Given the description of an element on the screen output the (x, y) to click on. 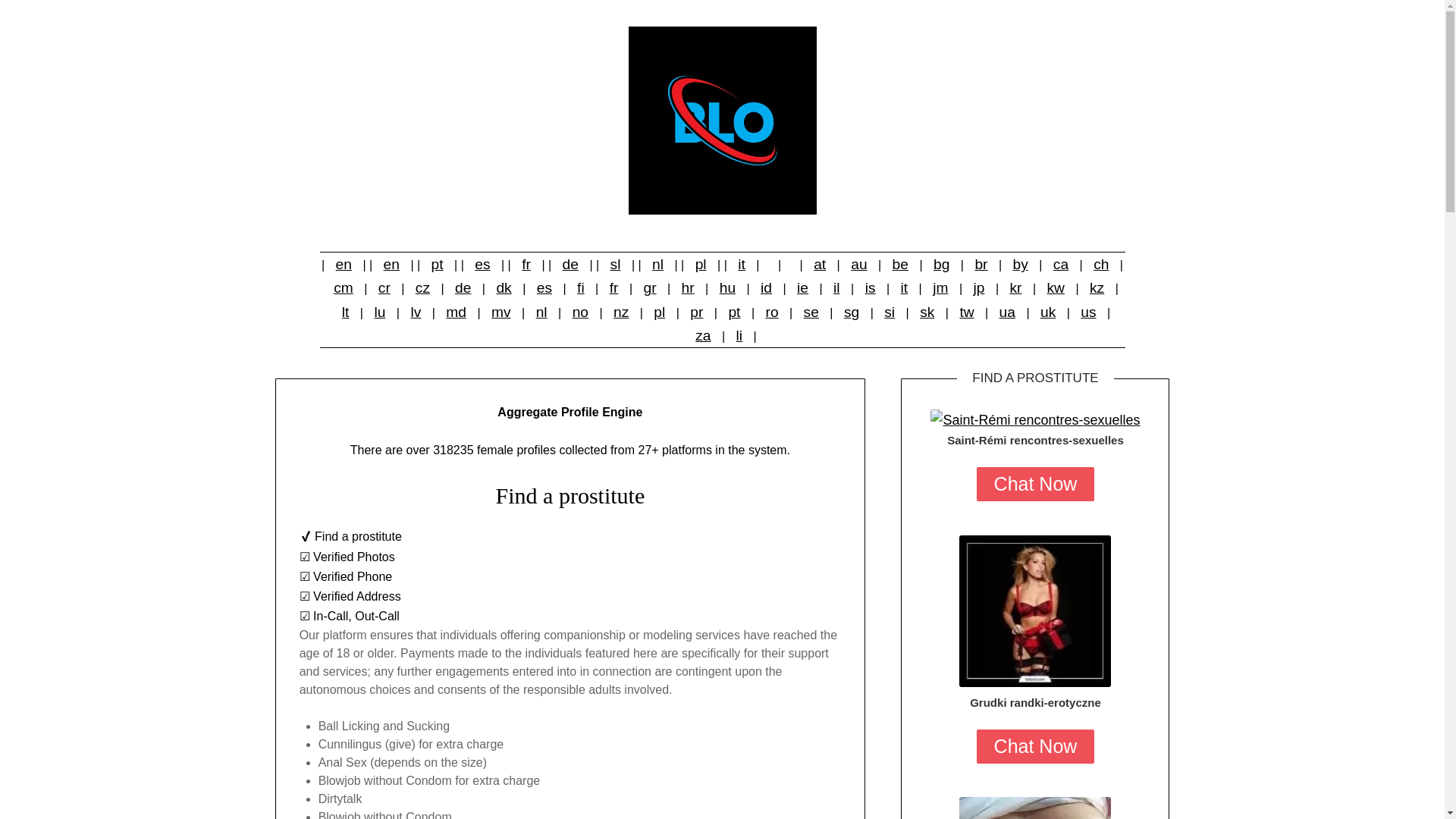
cz (422, 287)
hu (726, 287)
ch (1101, 264)
en (344, 264)
ca (1060, 264)
dk (502, 287)
es (482, 264)
hr (687, 287)
Meet (1034, 807)
au (859, 264)
